Given the description of an element on the screen output the (x, y) to click on. 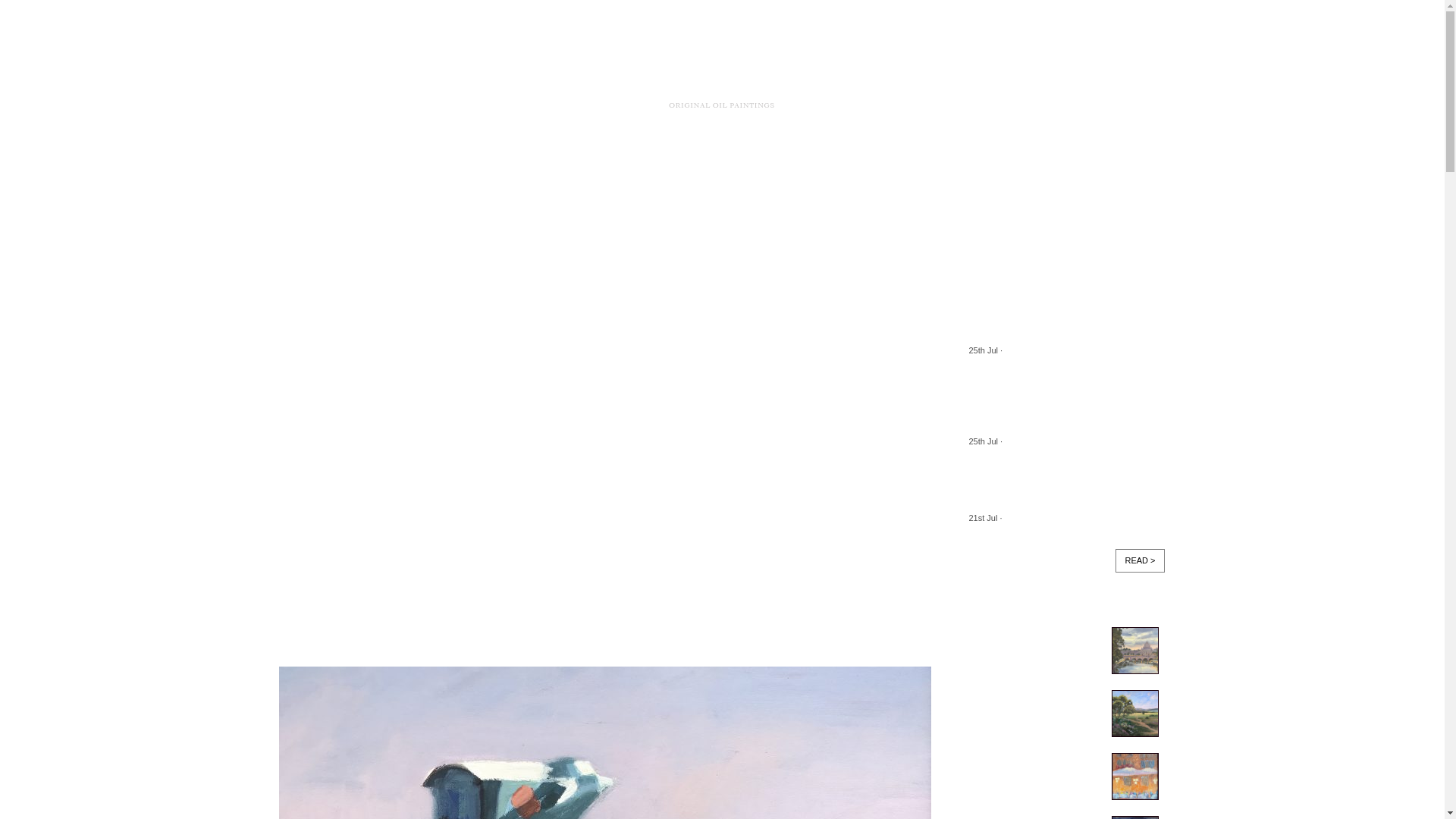
FIGURES (432, 365)
COMMISSIONS (523, 161)
PAINTINGS (409, 161)
ABOUT (695, 161)
CONTACT (782, 161)
SUNSET (649, 365)
5 available paintings of Newport Beach, California (1055, 321)
IMPRESSIONISM (507, 365)
